Given the description of an element on the screen output the (x, y) to click on. 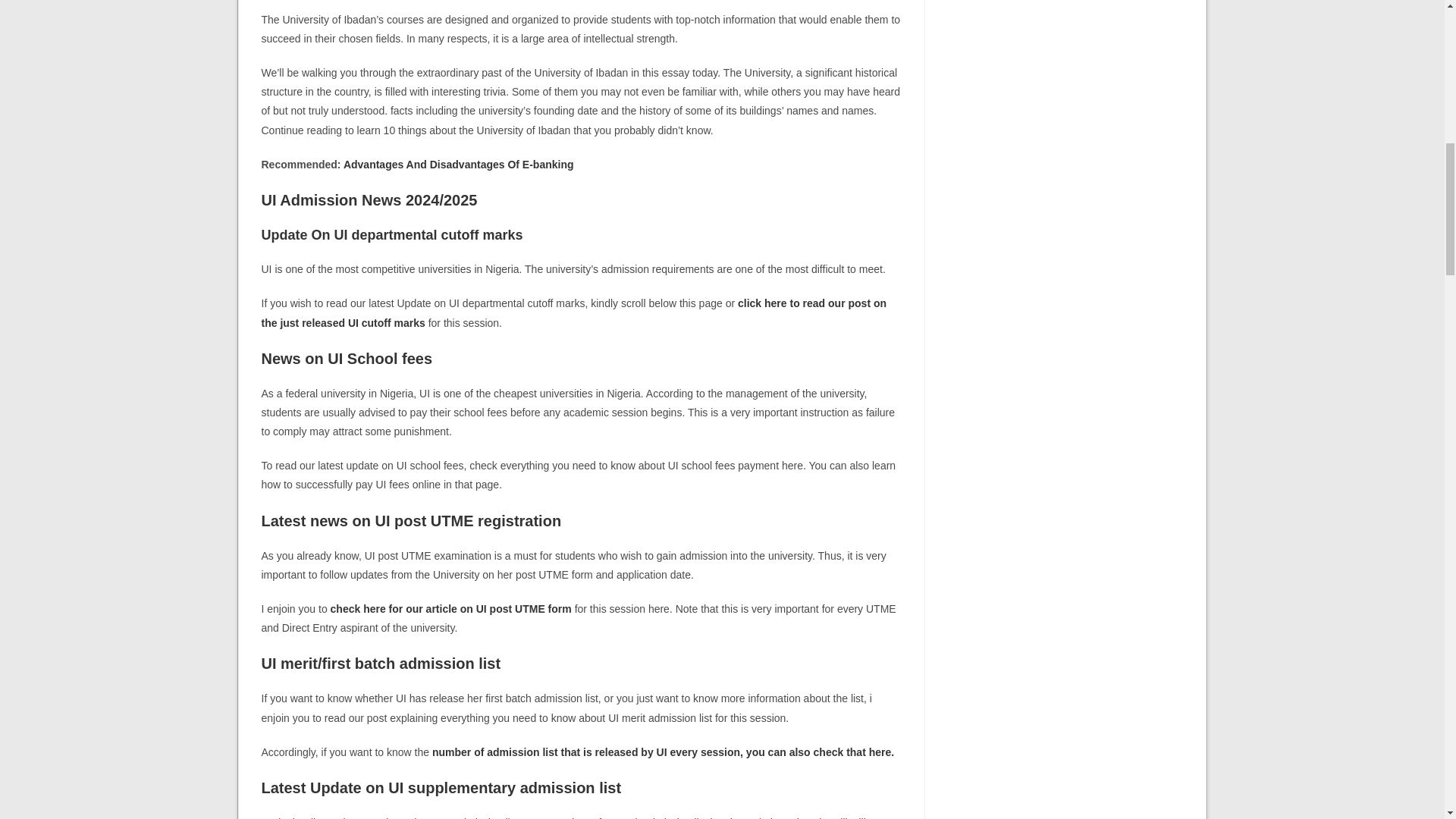
Advantages And Disadvantages Of E-banking (458, 164)
check here for our article on UI post UTME form (452, 608)
